Given the description of an element on the screen output the (x, y) to click on. 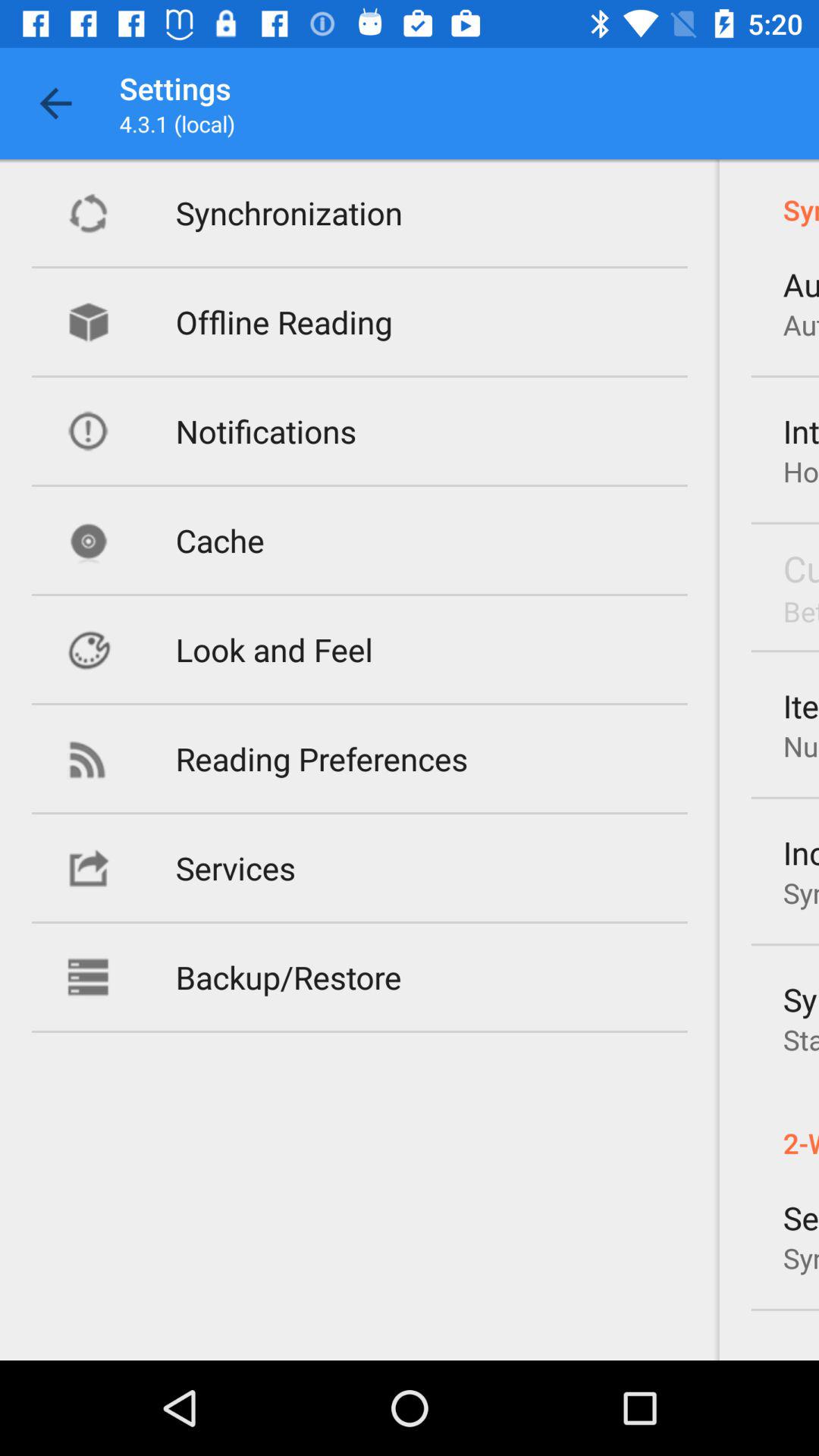
press the between 0 and (801, 611)
